Given the description of an element on the screen output the (x, y) to click on. 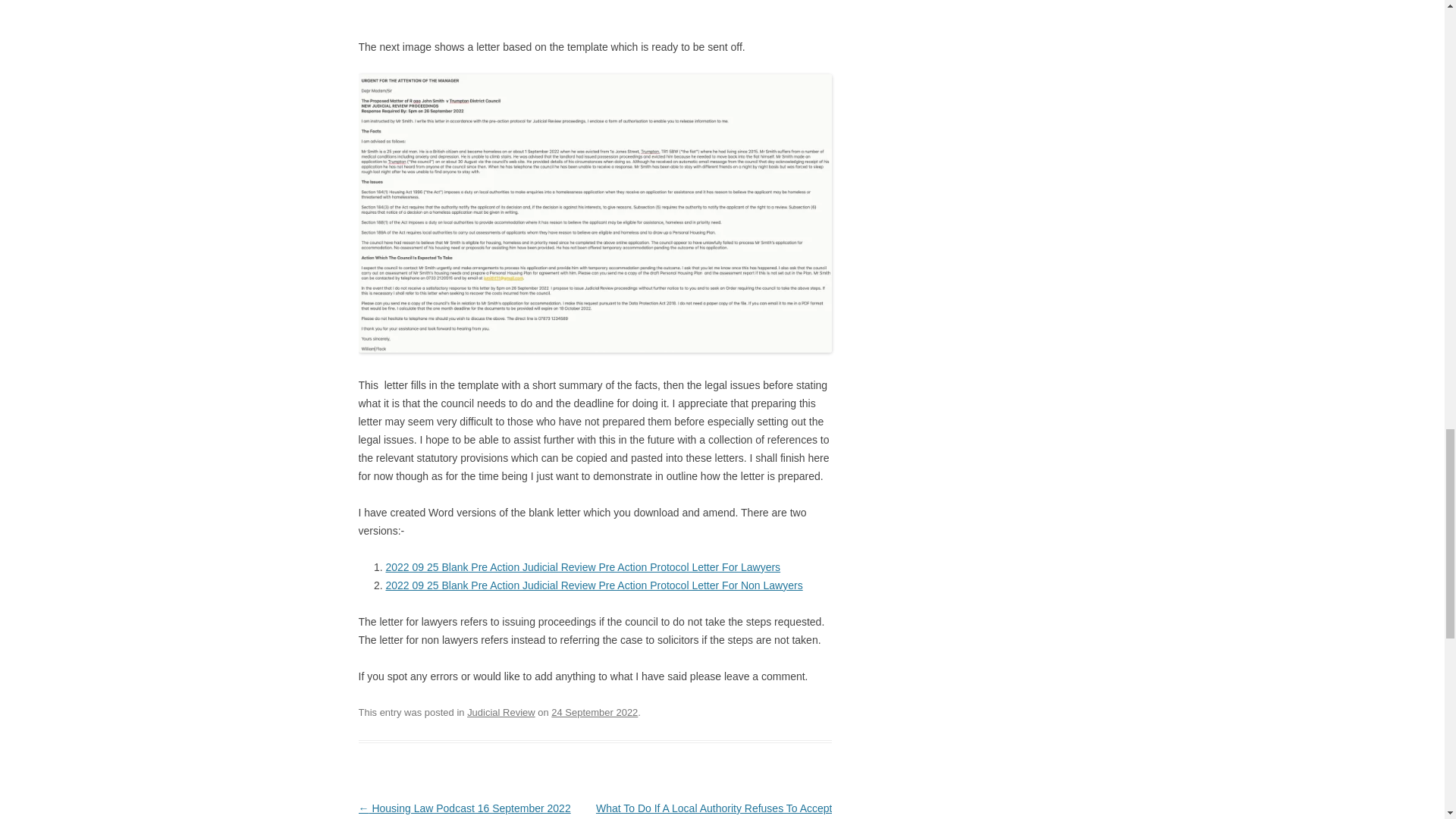
Judicial Review (500, 712)
7:53 am (594, 712)
24 September 2022 (594, 712)
